Given the description of an element on the screen output the (x, y) to click on. 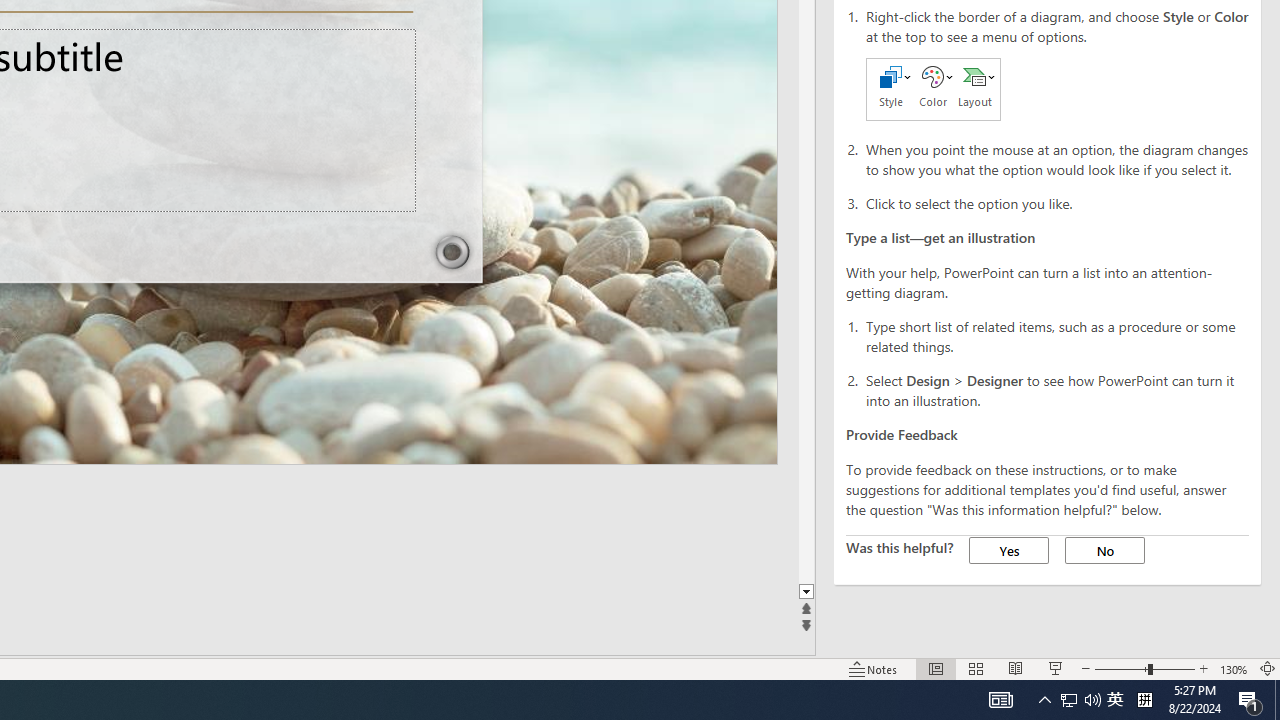
Notes  (874, 668)
